Given the description of an element on the screen output the (x, y) to click on. 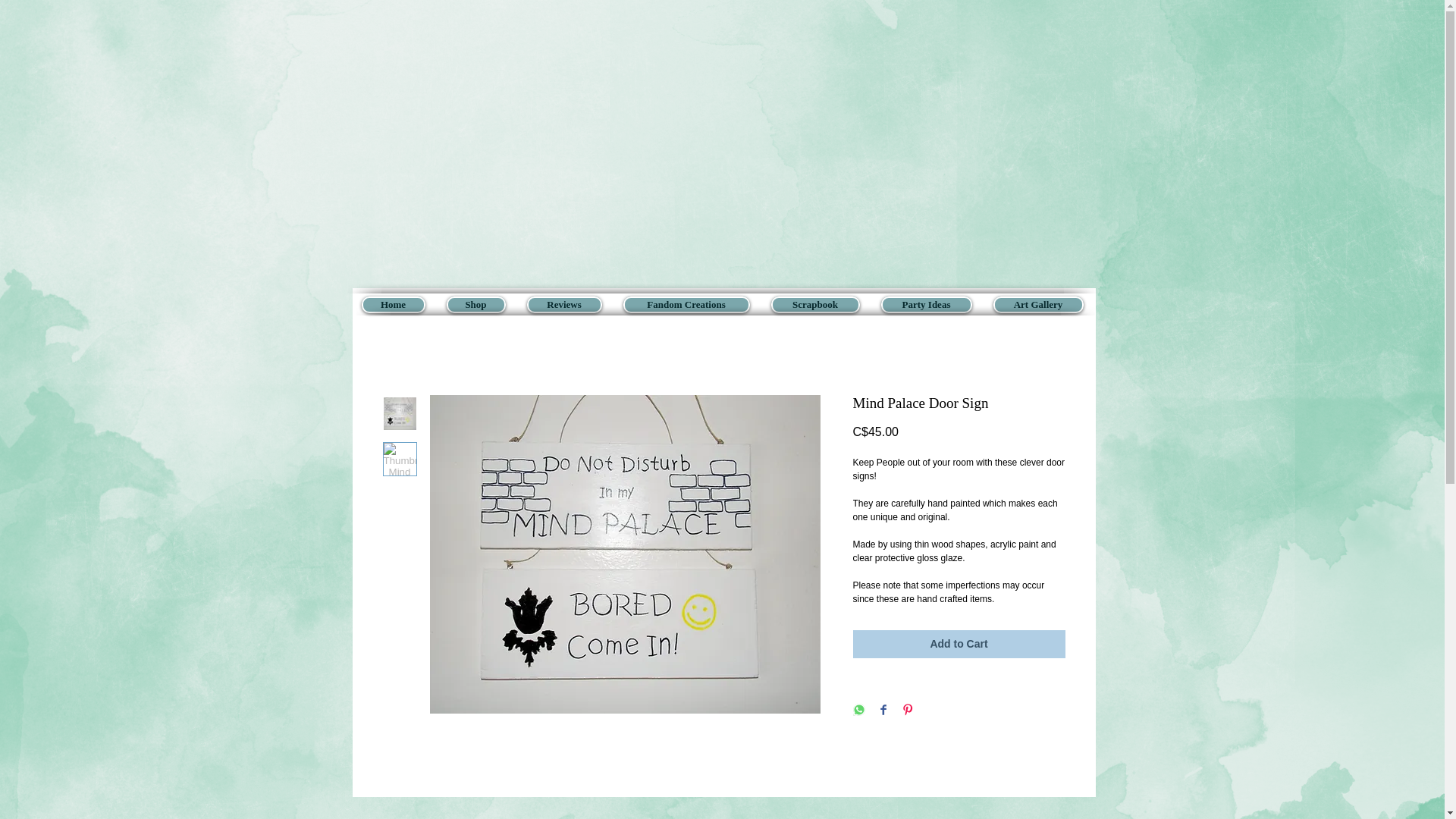
Add to Cart (957, 643)
Art Gallery (1037, 304)
Fandom Creations (686, 304)
Scrapbook (814, 304)
Reviews (563, 304)
Home (393, 304)
